Given the description of an element on the screen output the (x, y) to click on. 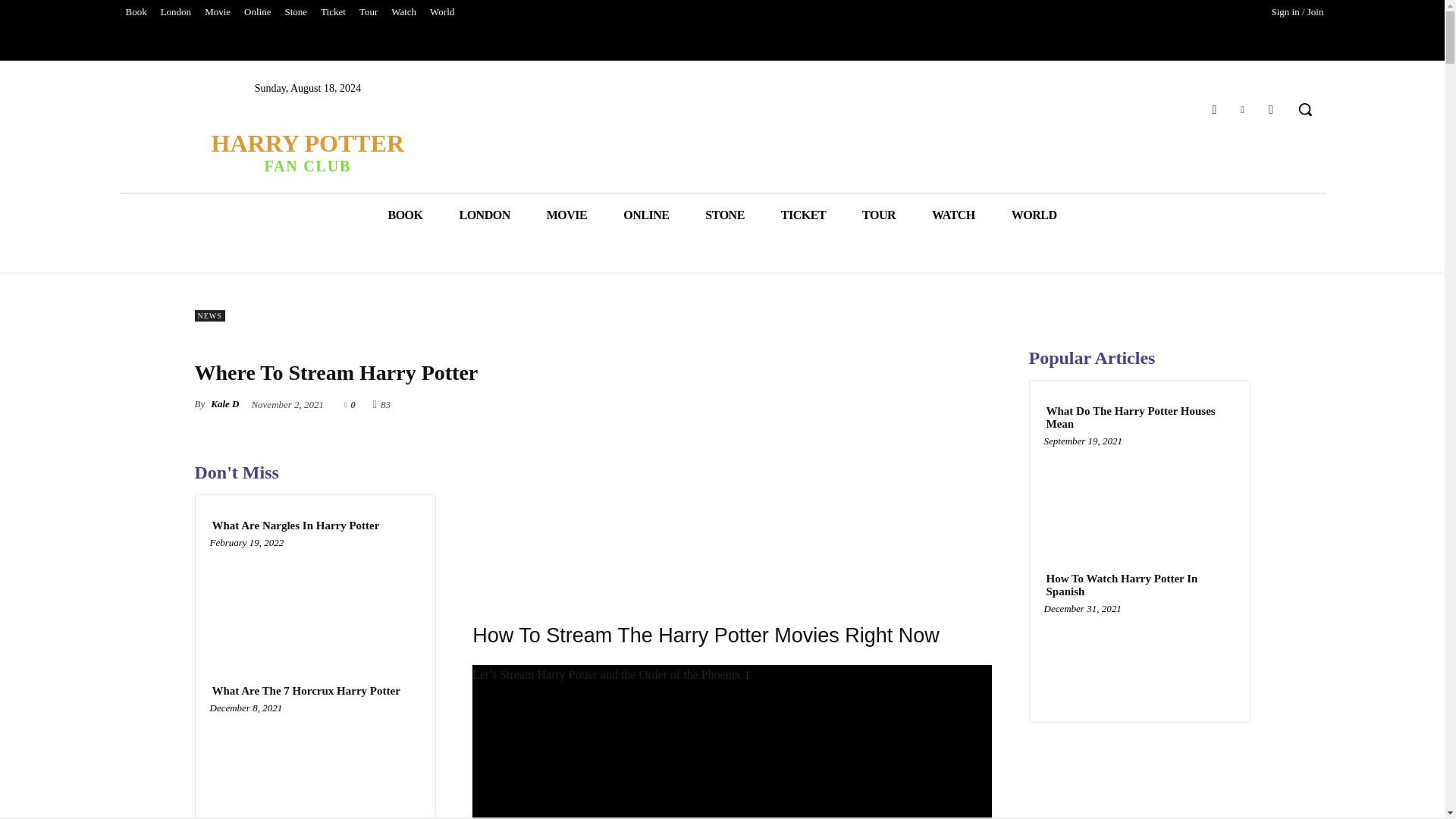
What Are The 7 Horcrux Harry Potter (305, 690)
BOOK (405, 214)
Twitter (1241, 109)
Watch (403, 12)
London (176, 12)
Online (257, 12)
Ticket (333, 12)
World (442, 12)
What Are Nargles In Harry Potter (295, 525)
What Are Nargles In Harry Potter (314, 598)
